Given the description of an element on the screen output the (x, y) to click on. 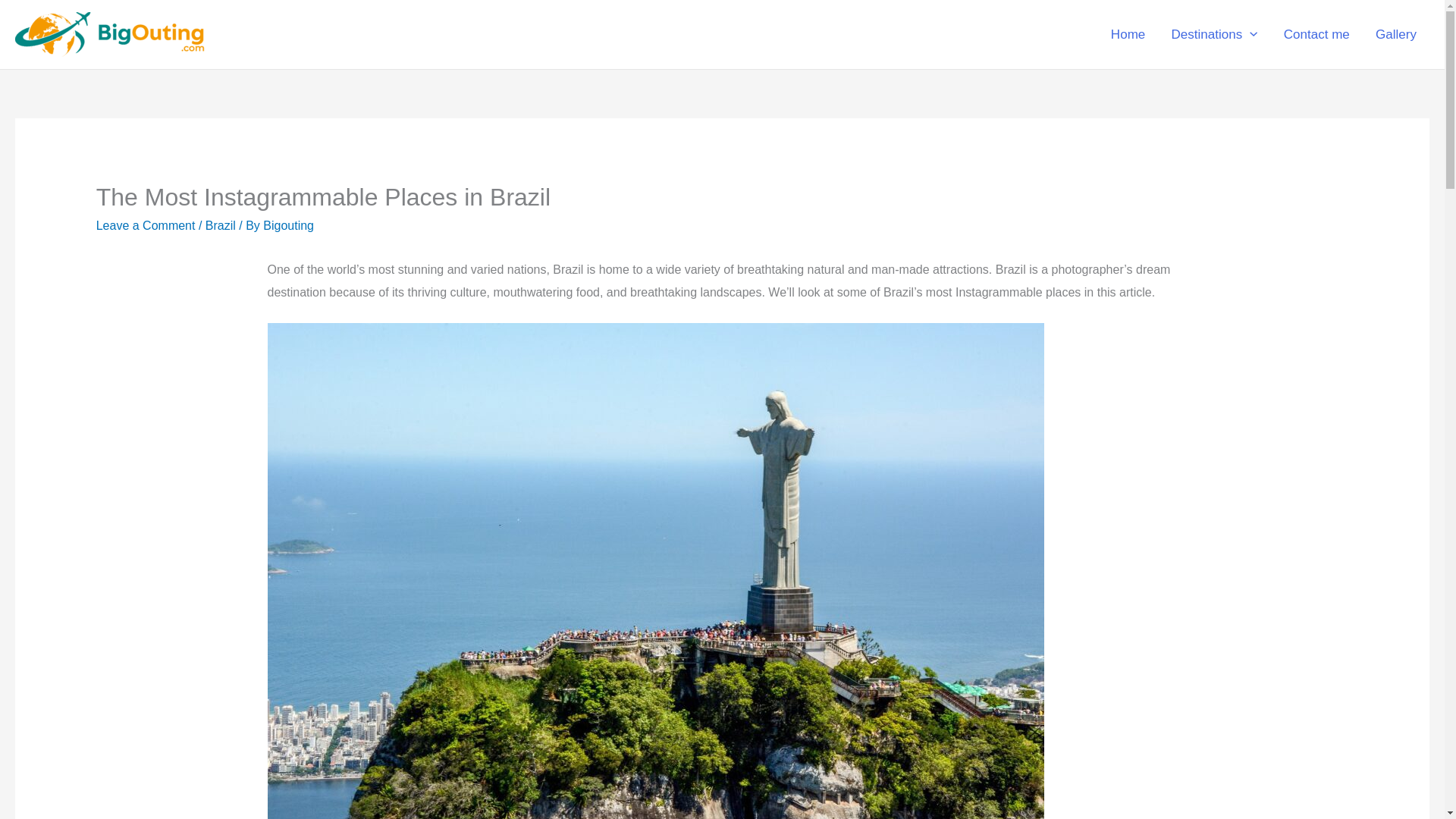
View all posts by Bigouting (288, 225)
Home (1127, 34)
Destinations (1213, 34)
Contact me (1316, 34)
Gallery (1395, 34)
